Given the description of an element on the screen output the (x, y) to click on. 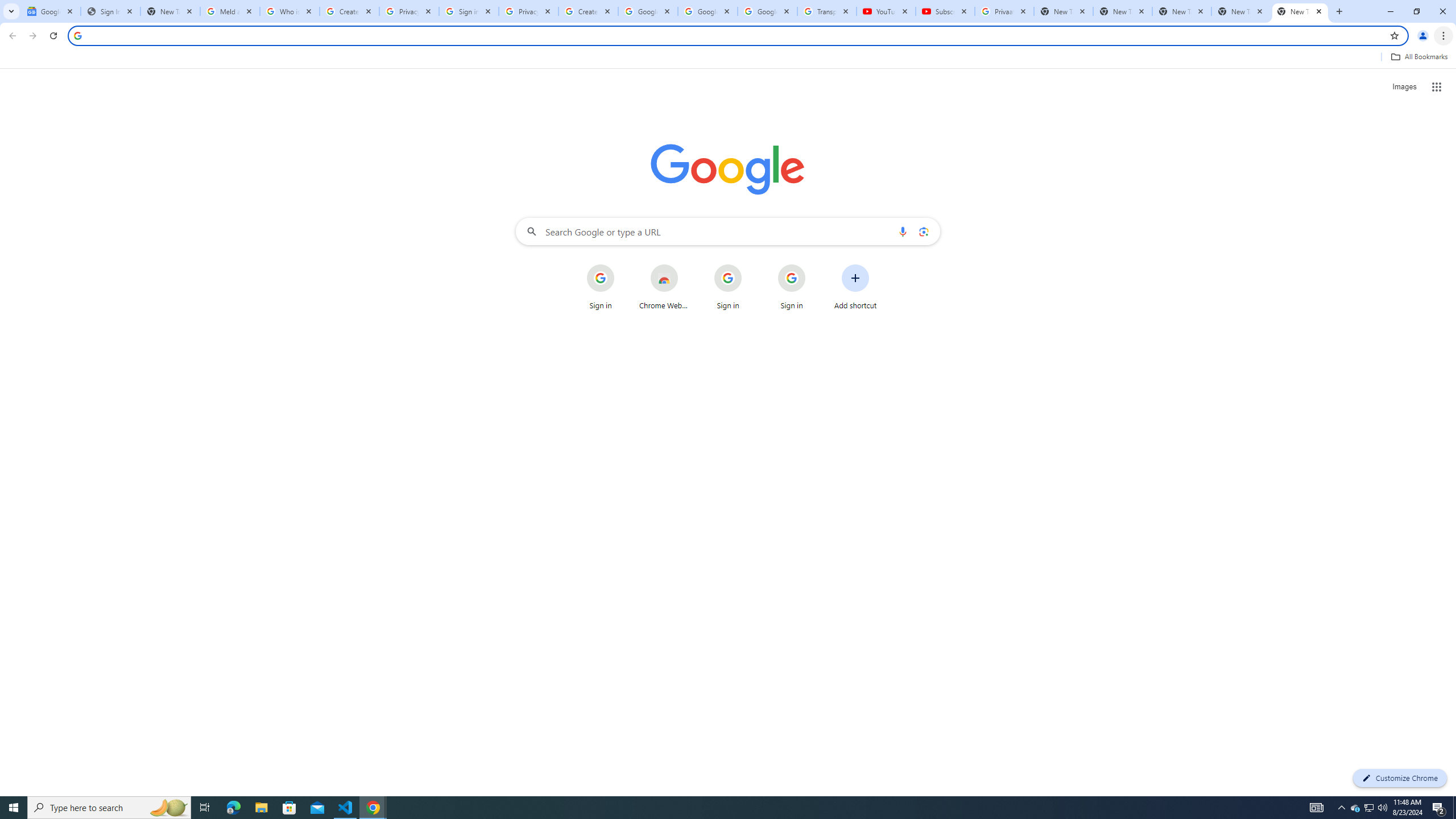
Create your Google Account (588, 11)
Subscriptions - YouTube (944, 11)
Create your Google Account (349, 11)
